Given the description of an element on the screen output the (x, y) to click on. 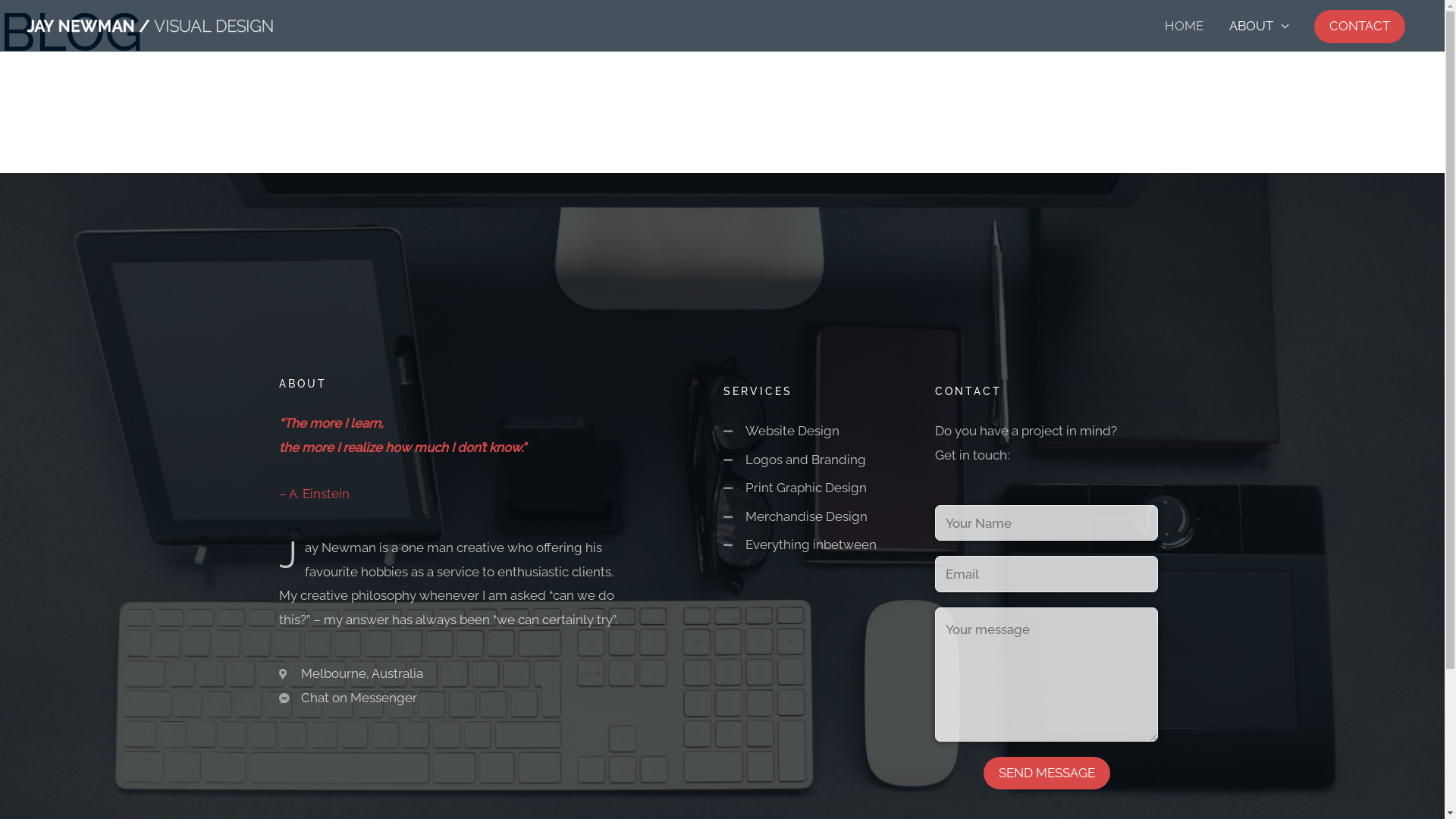
HOME Element type: text (1183, 25)
CONTACT Element type: text (1359, 26)
SEND MESSAGE Element type: text (1046, 773)
CONTACT Element type: text (1359, 25)
ABOUT Element type: text (1258, 25)
